Given the description of an element on the screen output the (x, y) to click on. 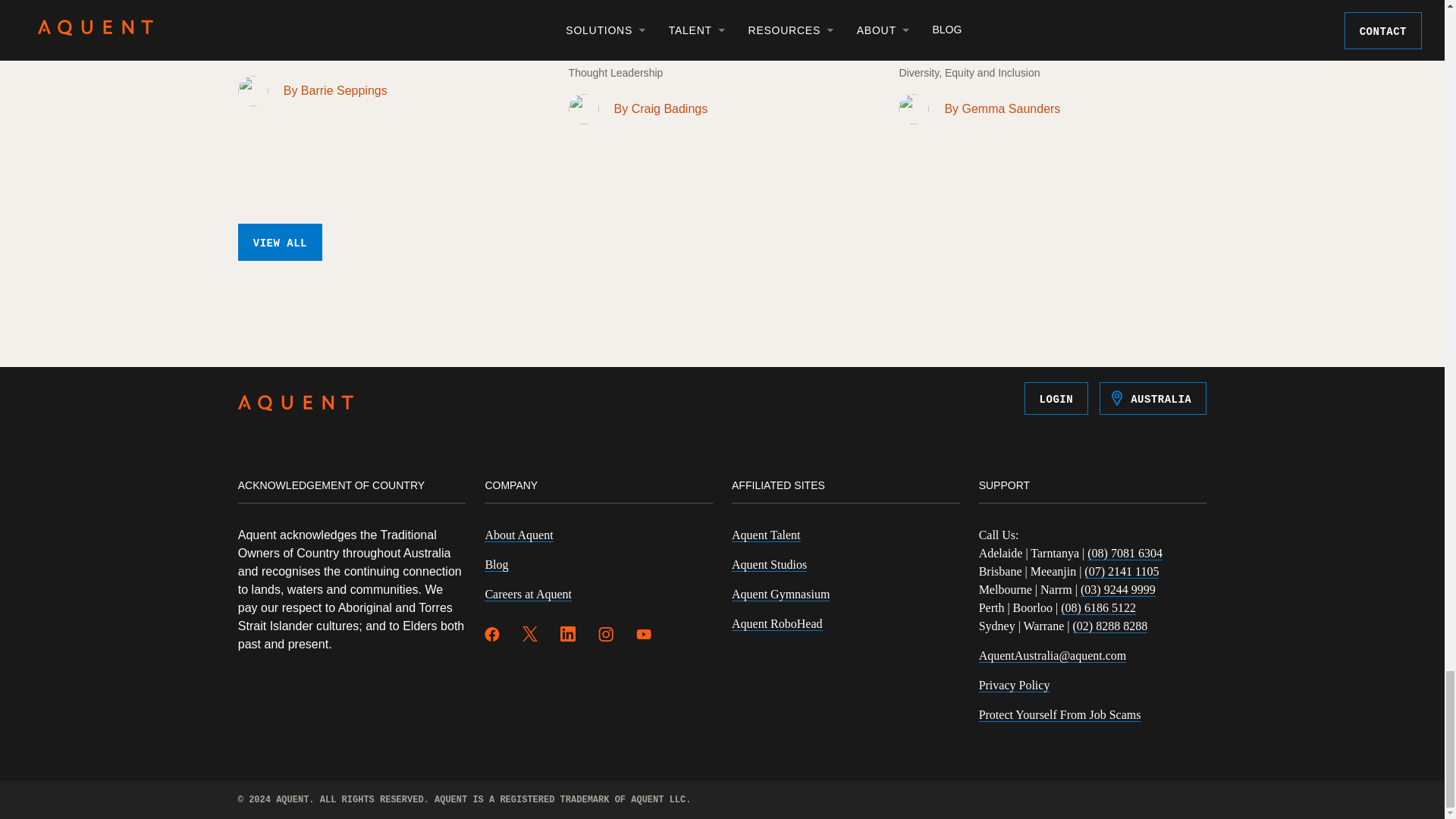
Aquent Homepage (295, 405)
